Given the description of an element on the screen output the (x, y) to click on. 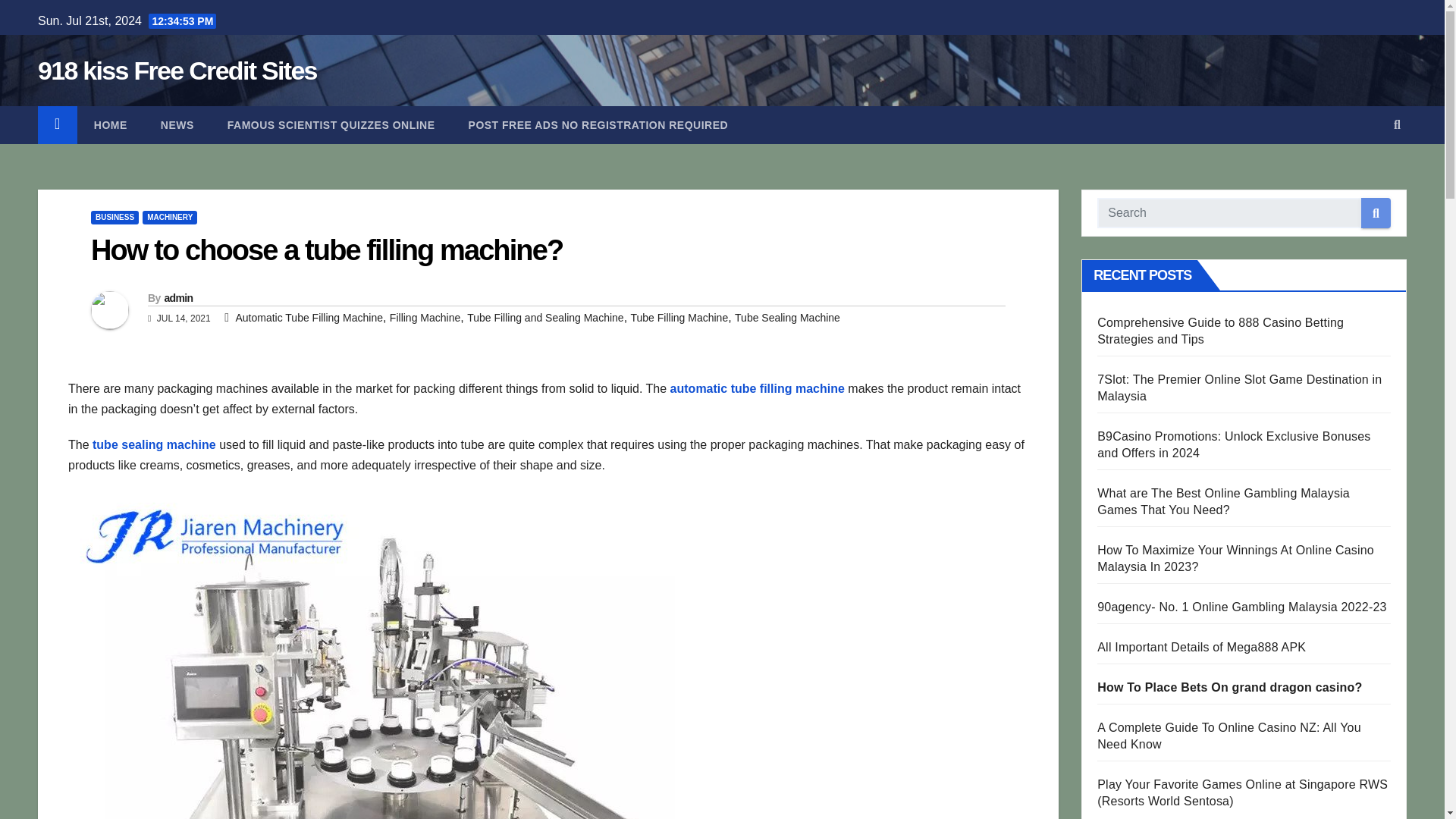
Filling Machine (425, 317)
POST FREE ADS NO REGISTRATION REQUIRED (598, 125)
admin (177, 297)
BUSINESS (114, 217)
Automatic Tube Filling Machine (308, 317)
FAMOUS SCIENTIST QUIZZES ONLINE (331, 125)
Tube Sealing Machine (787, 317)
automatic tube filling machine (758, 388)
918 kiss Free Credit Sites (177, 70)
Post Free Ads No Registration Required (598, 125)
How to choose a tube filling machine? (326, 250)
Tube Filling and Sealing Machine (545, 317)
Famous Scientist Quizzes Online (331, 125)
NEWS (177, 125)
HOME (110, 125)
